Given the description of an element on the screen output the (x, y) to click on. 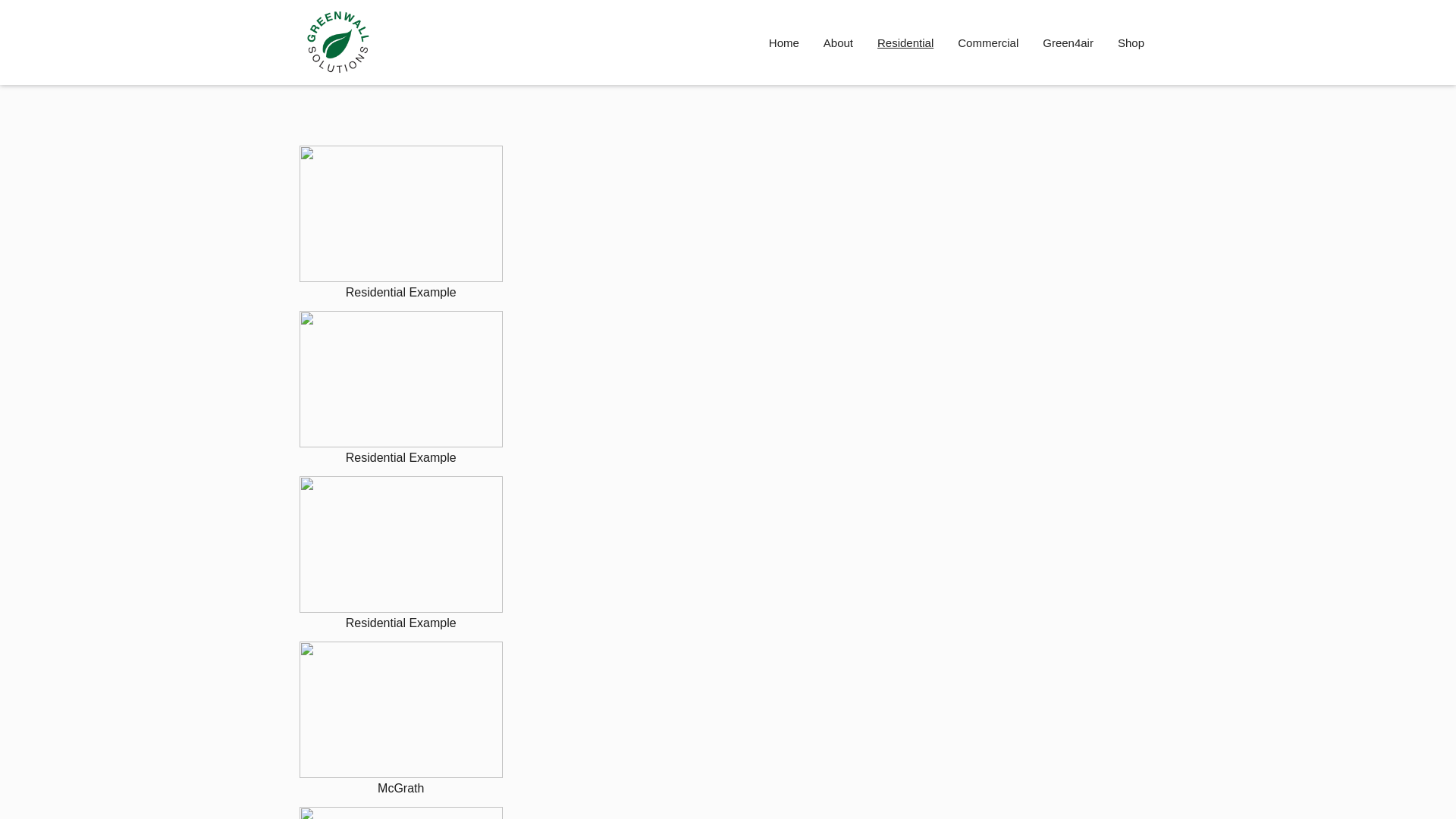
Green4air Element type: text (1067, 41)
About Element type: text (838, 41)
Home Element type: text (783, 41)
Residential Element type: text (905, 41)
Residential Example Element type: text (400, 389)
Submit Element type: text (727, 604)
Residential Example Element type: text (400, 554)
Commercial Element type: text (987, 41)
Shop Element type: text (1130, 41)
Residential Example Element type: text (400, 224)
McGrath Element type: text (400, 720)
